Given the description of an element on the screen output the (x, y) to click on. 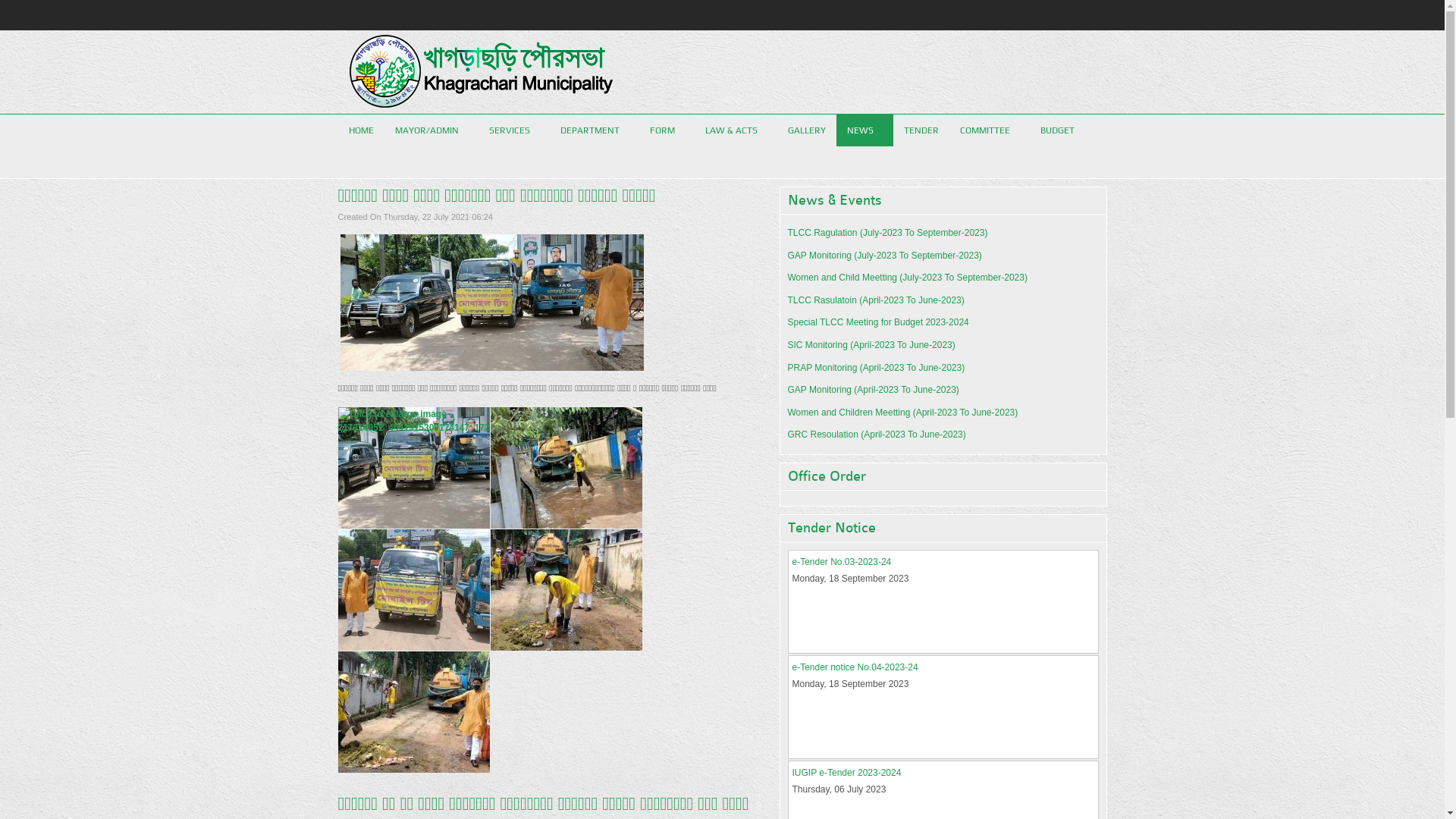
LAW & ACTS Element type: text (735, 130)
Women and Child Meetting (July-2023 To September-2023) Element type: text (906, 277)
Special TLCC Meeting for Budget 2023-2024 Element type: text (877, 321)
GRC Resoulation (April-2023 To June-2023) Element type: text (876, 434)
IUGIP e-Tender 2023-2024 Element type: text (845, 772)
e-Tender No.03-2023-24 Element type: text (841, 561)
HOME Element type: text (361, 130)
MAYOR/ADMIN Element type: text (430, 130)
FORM Element type: text (665, 130)
GALLERY Element type: text (805, 130)
PRAP Monitoring (April-2023 To June-2023) Element type: text (875, 367)
GAP Monitoring (July-2023 To September-2023) Element type: text (884, 255)
TLCC Ragulation (July-2023 To September-2023) Element type: text (887, 232)
Khagrachari Municipality Element type: hover (479, 71)
DEPARTMENT Element type: text (593, 130)
e-Tender notice No.04-2023-24 Element type: text (854, 667)
SIC Monitoring (April-2023 To June-2023) Element type: text (870, 344)
Women and Children Meetting (April-2023 To June-2023) Element type: text (902, 412)
TENDER Element type: text (921, 130)
BUDGET Element type: text (1061, 130)
NEWS Element type: text (863, 130)
GAP Monitoring (April-2023 To June-2023) Element type: text (872, 389)
COMMITTEE Element type: text (989, 130)
SERVICES Element type: text (513, 130)
TLCC Rasulatoin (April-2023 To June-2023) Element type: text (875, 299)
